Given the description of an element on the screen output the (x, y) to click on. 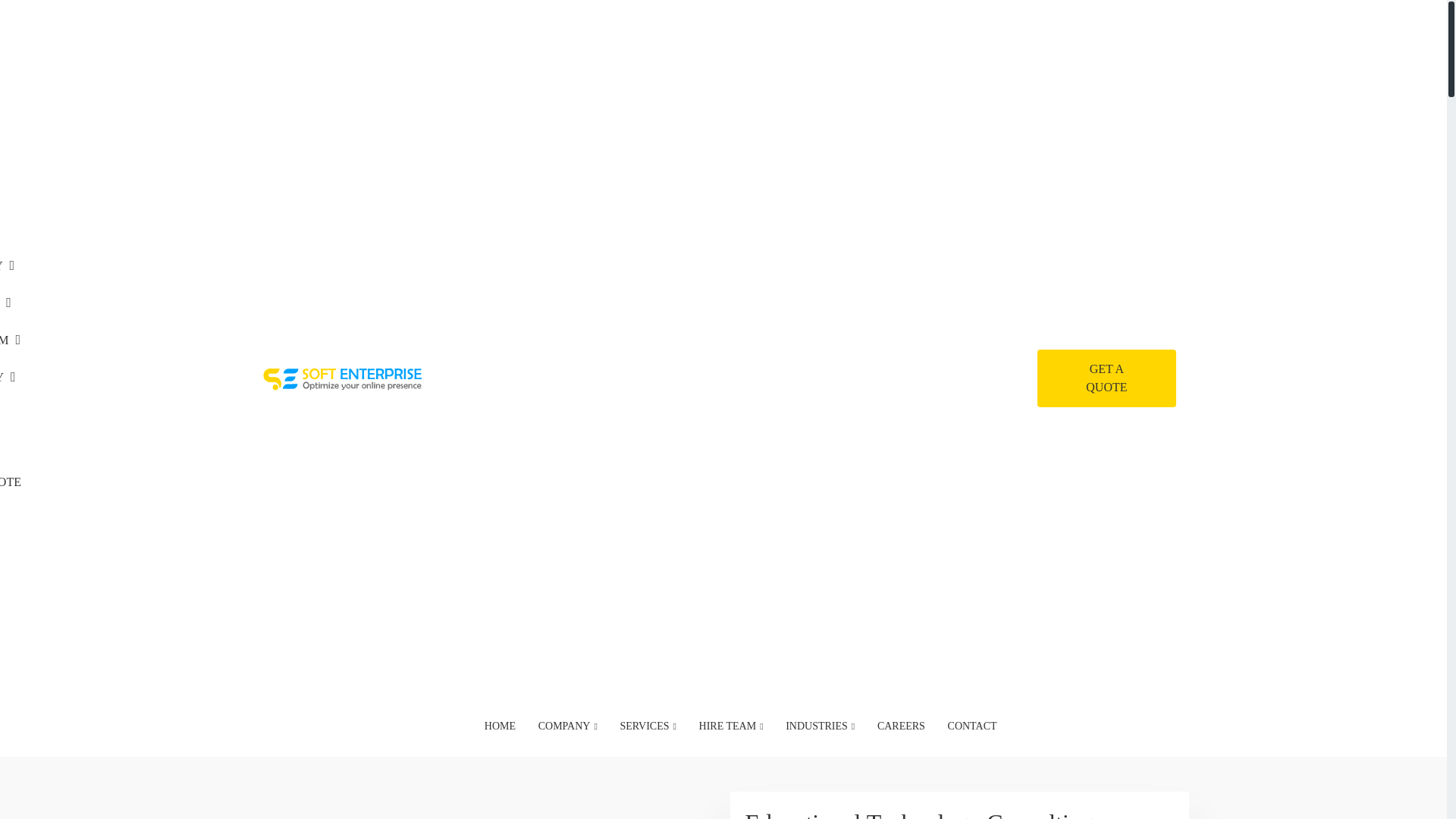
Home (284, 123)
